Given the description of an element on the screen output the (x, y) to click on. 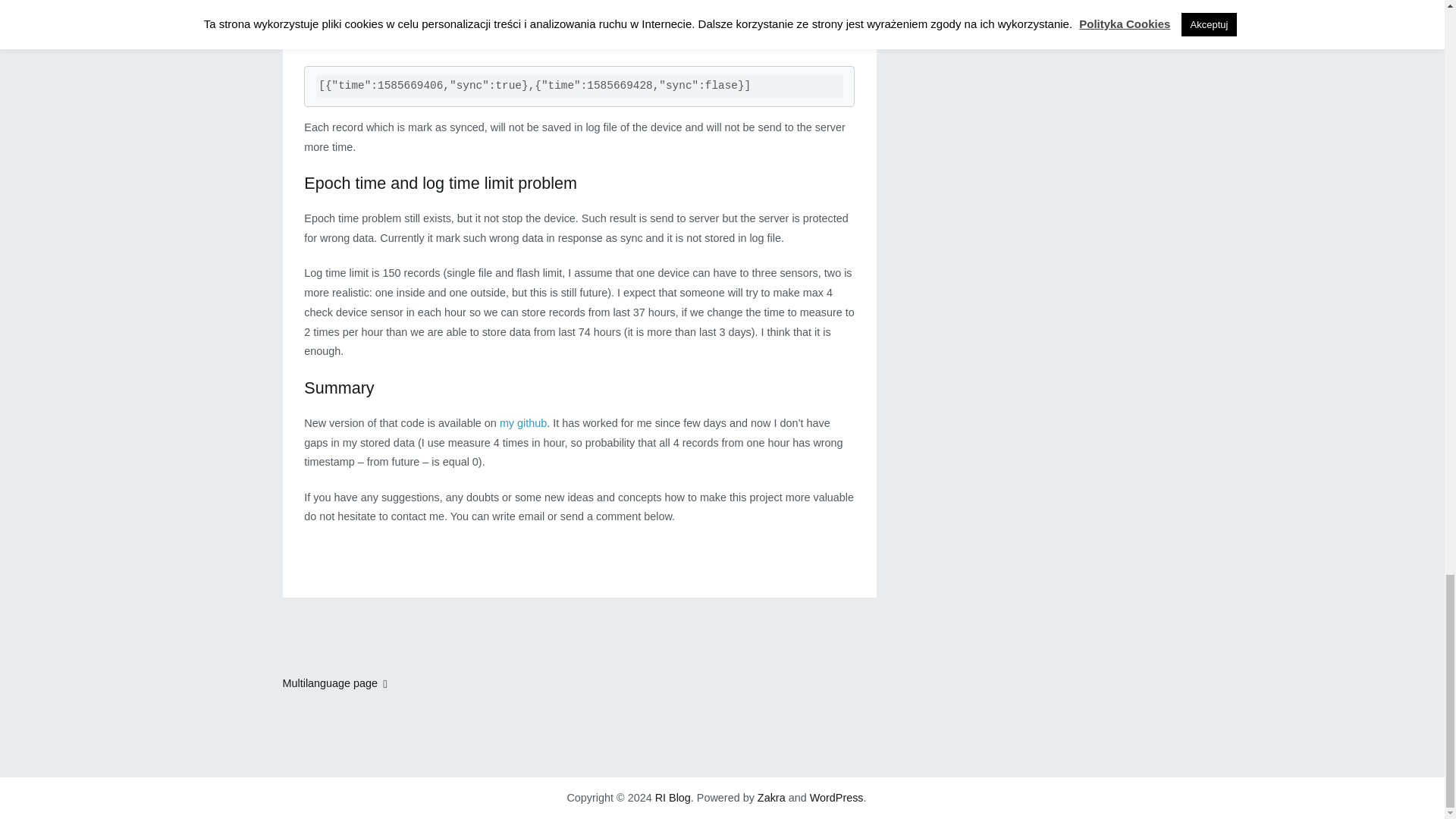
RI Blog (672, 797)
my github (523, 422)
RI Blog (672, 797)
Multilanguage page (334, 683)
Zakra (771, 797)
WordPress (836, 797)
